Given the description of an element on the screen output the (x, y) to click on. 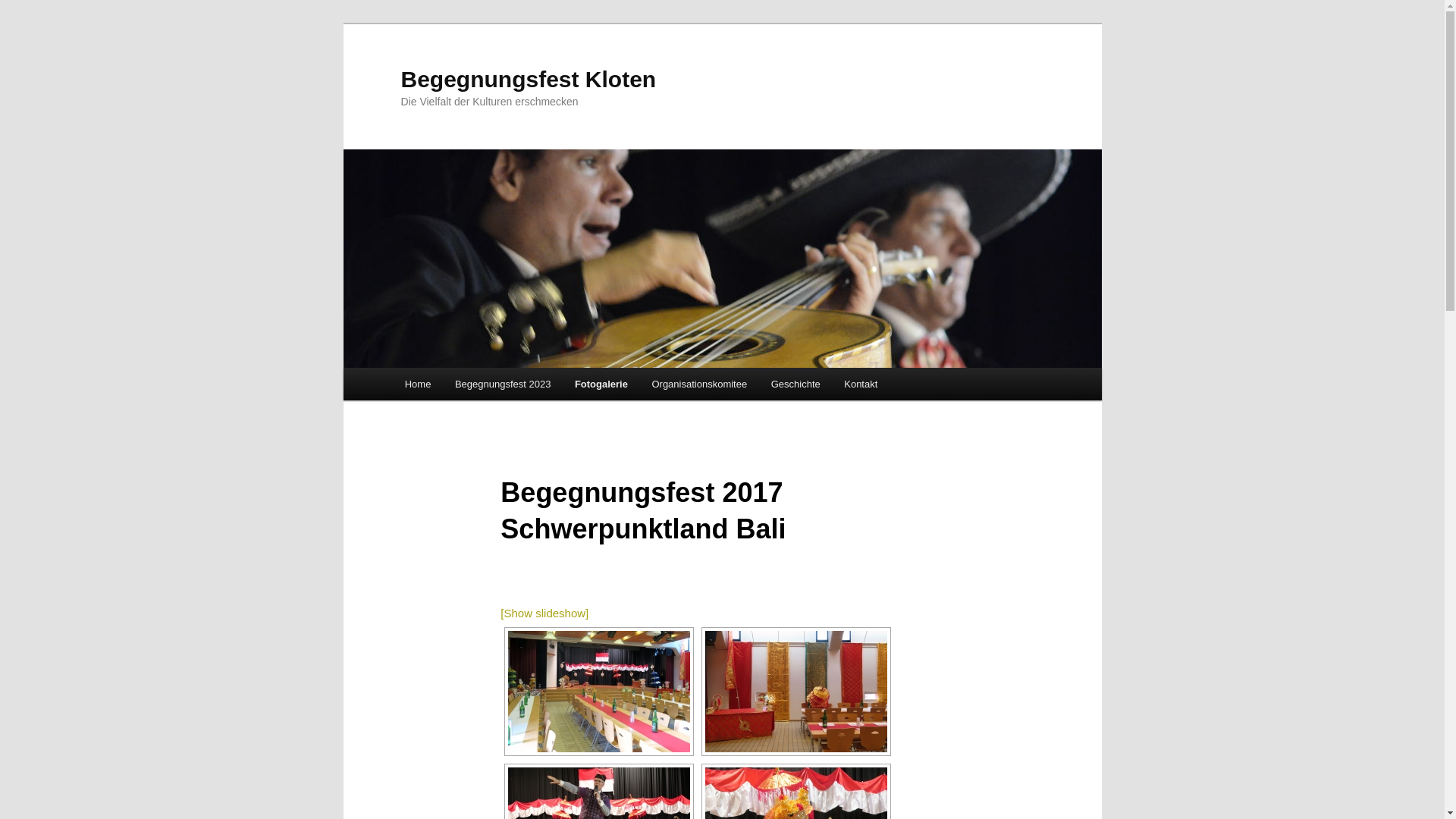
Skip to primary content Element type: text (472, 386)
Kontakt Element type: text (860, 383)
Organisationskomitee Element type: text (699, 383)
[Show slideshow] Element type: text (544, 612)
Fotogalerie Element type: text (601, 383)
IMG_4025 Element type: hover (796, 691)
Begegnungsfest Kloten Element type: text (527, 78)
Home Element type: text (417, 383)
Begegnungsfest 2023 Element type: text (502, 383)
IMG_4022 Element type: hover (599, 691)
Geschichte Element type: text (795, 383)
